Given the description of an element on the screen output the (x, y) to click on. 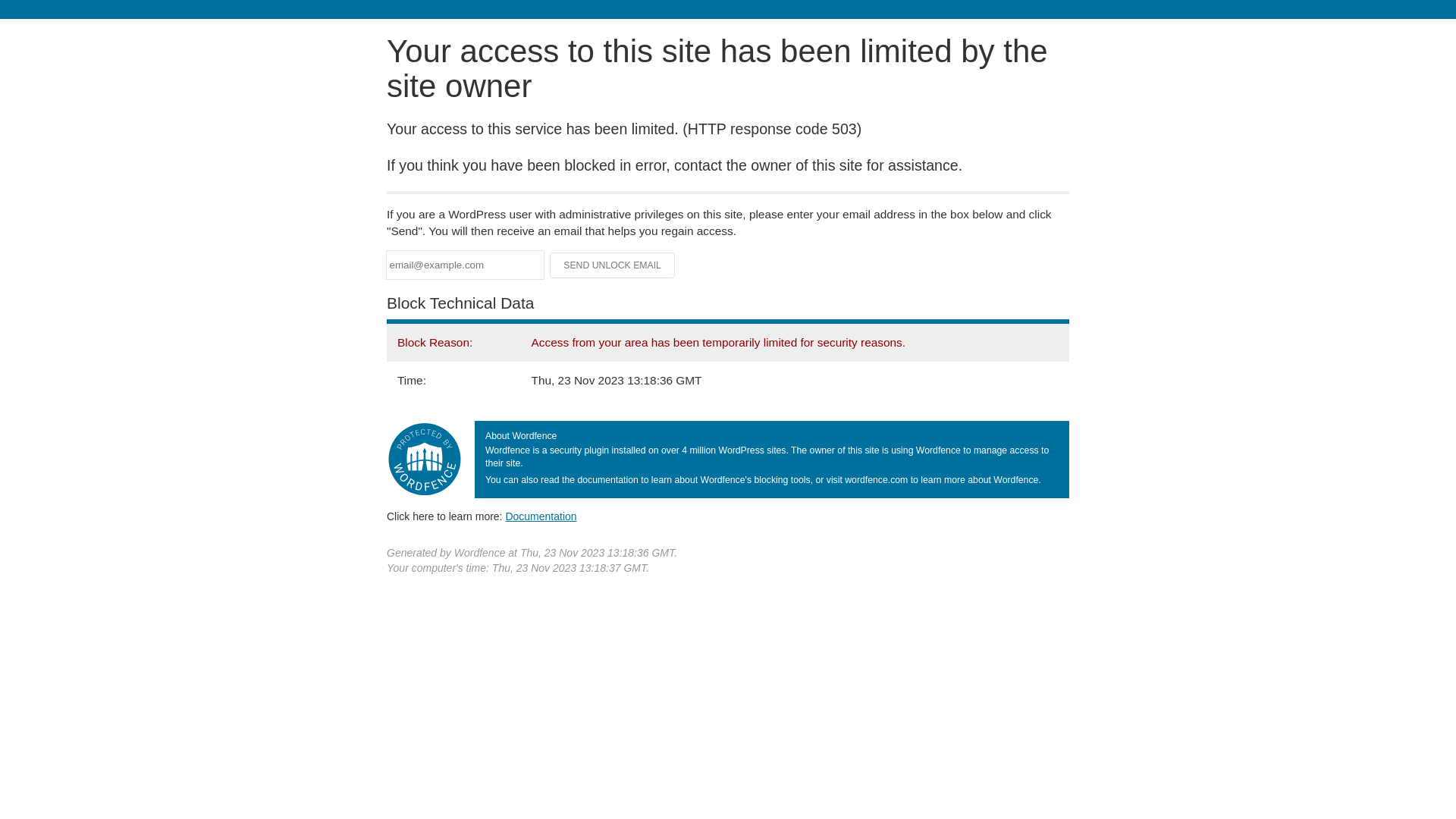
Documentation Element type: text (540, 516)
Send Unlock Email Element type: text (612, 265)
